Given the description of an element on the screen output the (x, y) to click on. 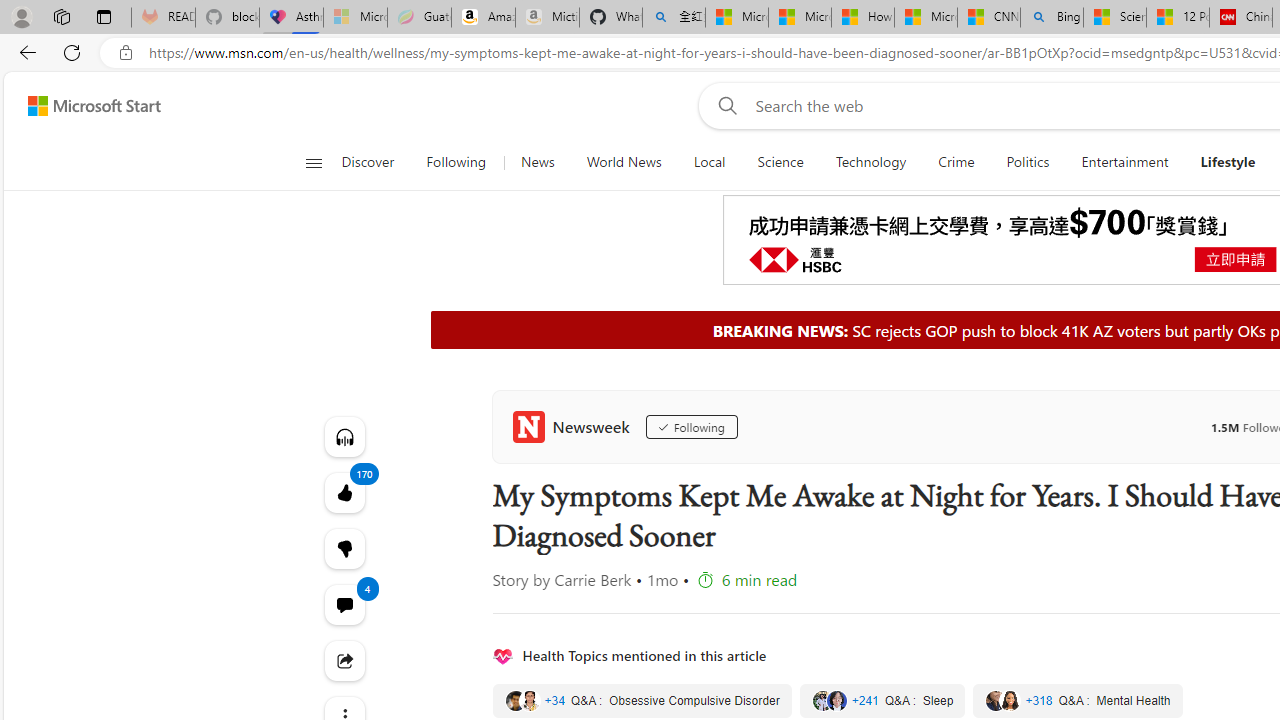
Obsessive Compulsive Disorder (641, 700)
